Given the description of an element on the screen output the (x, y) to click on. 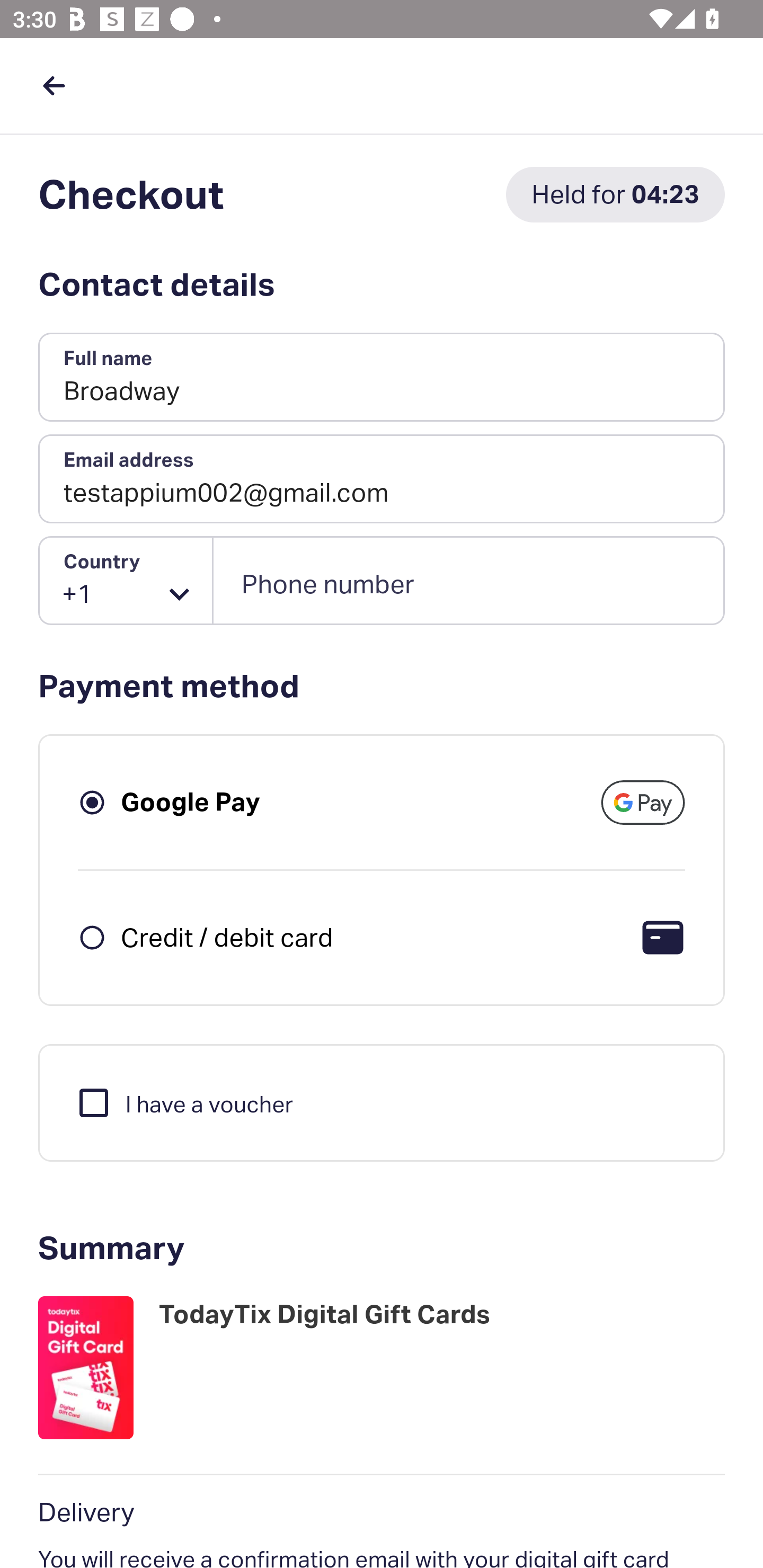
back button (53, 85)
Broadway (381, 377)
testappium002@gmail.com (381, 478)
  +1 (126, 580)
Google Pay (190, 802)
Credit / debit card (227, 936)
I have a voucher (183, 1101)
